Given the description of an element on the screen output the (x, y) to click on. 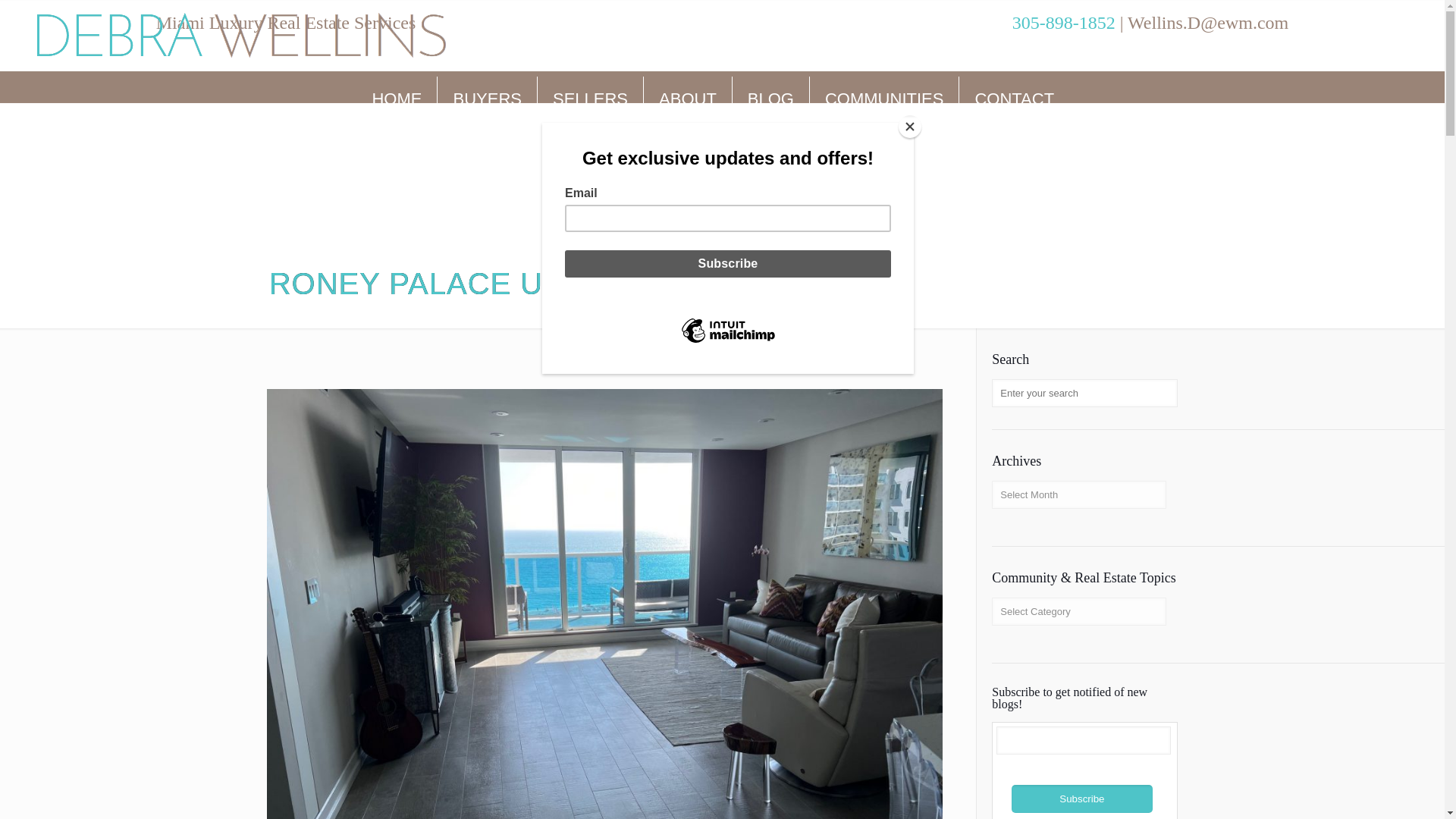
Subscribe (1082, 798)
ABOUT (687, 99)
BLOG (770, 99)
SELLERS (590, 99)
BUYERS (487, 99)
HOME (397, 99)
